Given the description of an element on the screen output the (x, y) to click on. 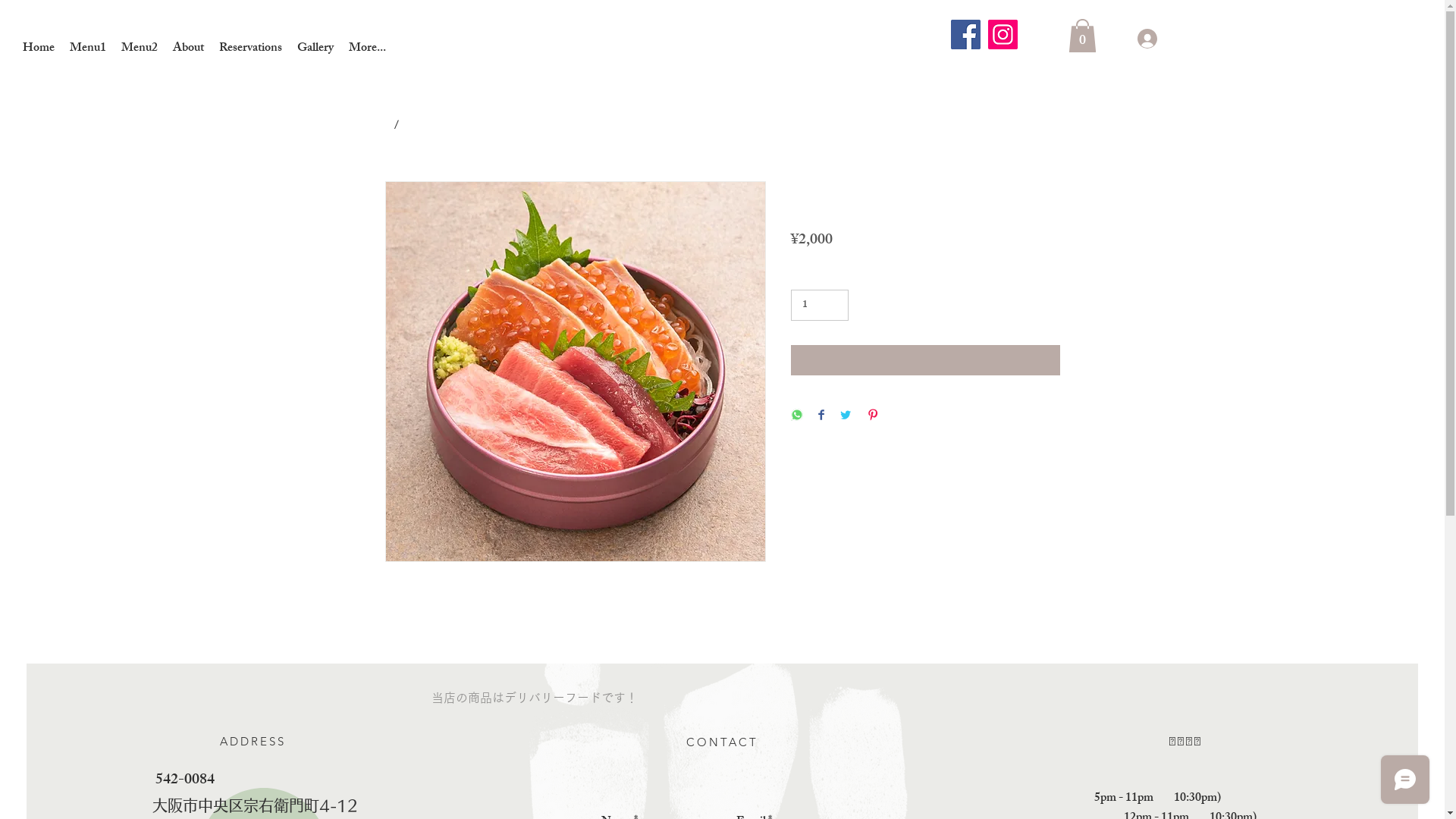
Menu2 Element type: text (139, 48)
Menu1 Element type: text (87, 48)
Reservations Element type: text (250, 48)
0 Element type: text (1081, 35)
Home Element type: text (38, 48)
Gallery Element type: text (315, 48)
About Element type: text (188, 48)
